Given the description of an element on the screen output the (x, y) to click on. 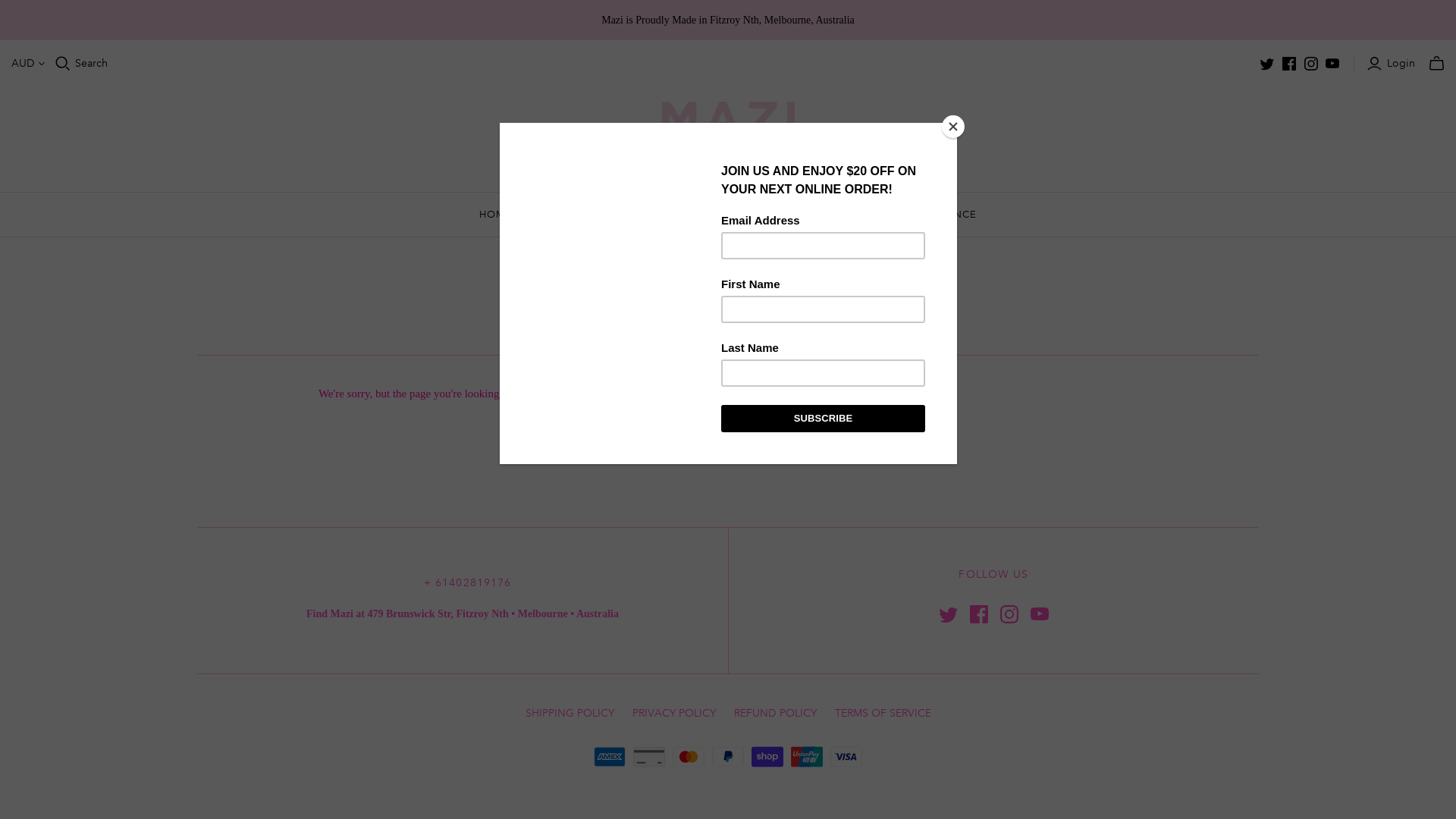
BLOG Element type: text (770, 214)
Youtube Icon Element type: text (1038, 614)
Facebook Icon Element type: text (978, 614)
HOME Element type: text (495, 214)
REFUND POLICY Element type: text (775, 712)
TERMS OF SERVICE Element type: text (882, 712)
Twitter Icon Element type: text (947, 614)
Home Element type: text (708, 275)
Login Element type: text (1392, 63)
CLEARANCE Element type: text (943, 214)
CLOTHING Element type: text (581, 214)
SHIPPING POLICY Element type: text (568, 712)
PRIVACY POLICY Element type: text (673, 712)
Instagram Icon Element type: text (1008, 614)
CONTACT Element type: text (848, 214)
ABOUT MAZI Element type: text (685, 214)
